Given the description of an element on the screen output the (x, y) to click on. 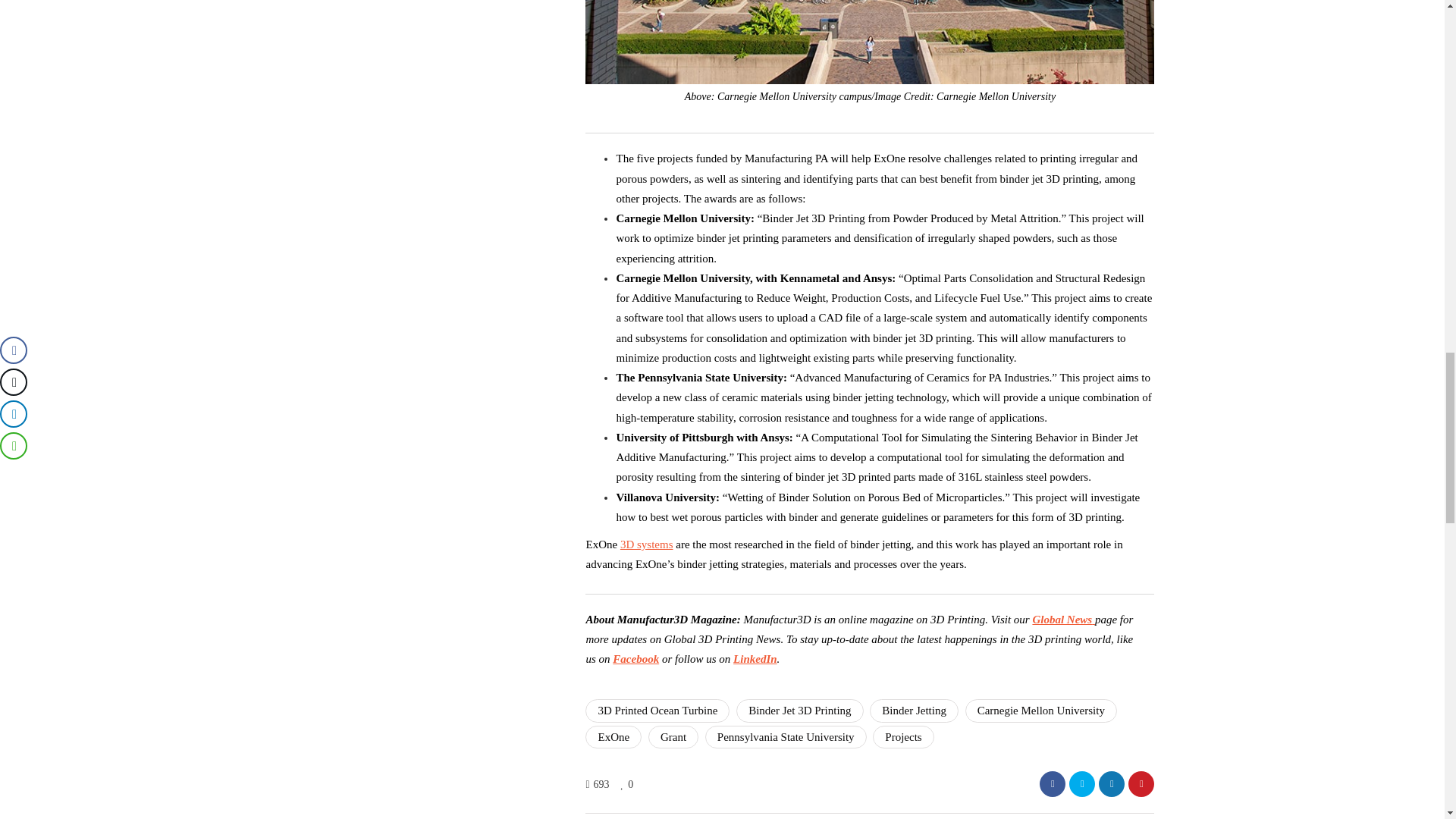
Pin this (1141, 783)
3D systems (646, 544)
Share with LinkedIn (1111, 783)
Share with Facebook (1052, 783)
Tweet this (1081, 783)
